Given the description of an element on the screen output the (x, y) to click on. 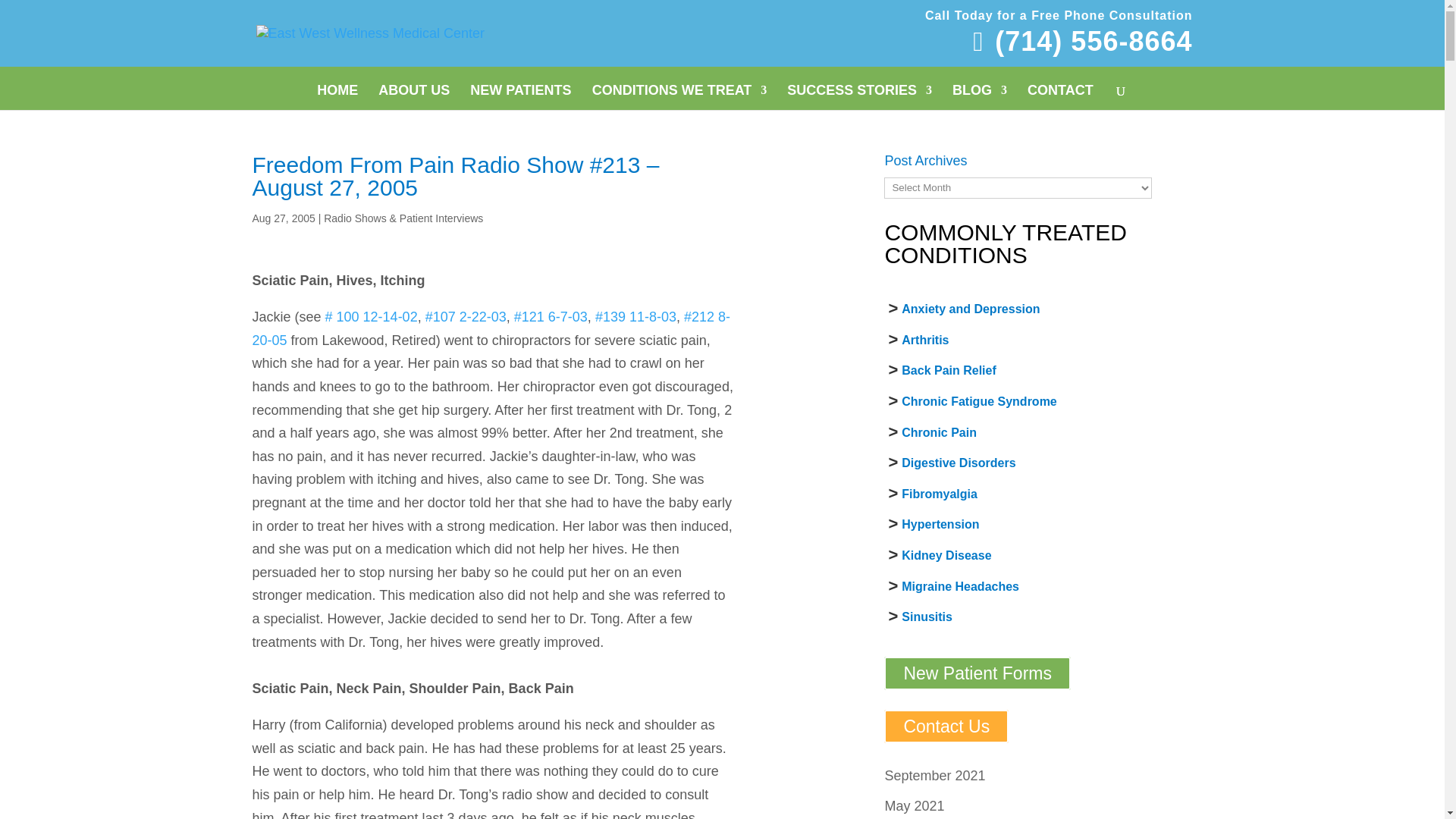
CONTACT (1060, 93)
ABOUT US (413, 93)
NEW PATIENTS (520, 93)
SUCCESS STORIES (859, 93)
HOME (337, 93)
CONDITIONS WE TREAT (679, 93)
BLOG (979, 93)
